Given the description of an element on the screen output the (x, y) to click on. 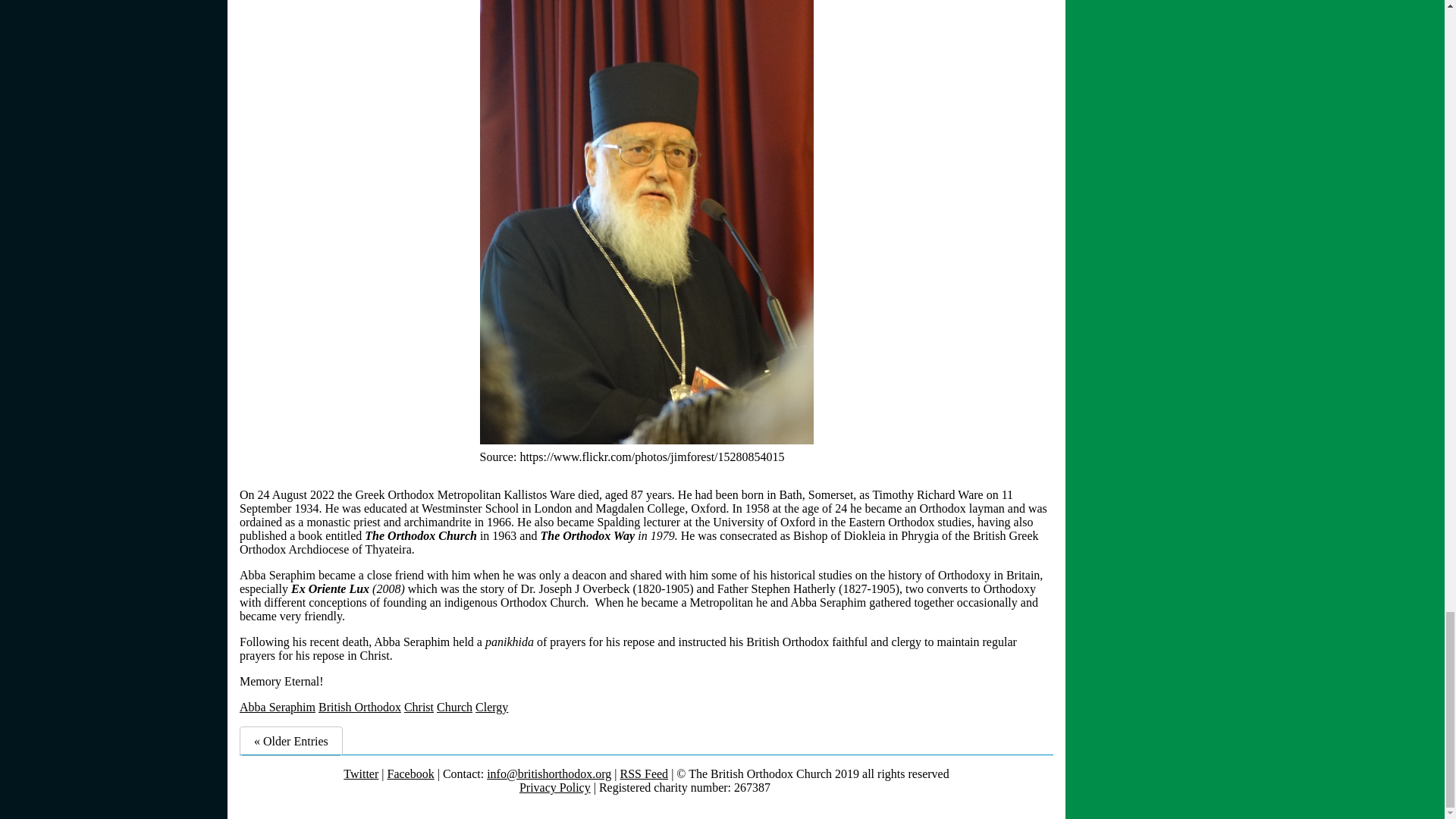
British Orthodox Church Official Twitter link (360, 773)
Church (453, 707)
British Orthodox Church Privacy Policy (555, 787)
Christ (418, 707)
Clergy (492, 707)
British Orthodox Church RSS Feed (644, 773)
Email The British Orthodox Church (548, 773)
British Orthodox (359, 707)
Abba Seraphim (277, 707)
British Orthodox Church Official Facebook Page link (410, 773)
